Given the description of an element on the screen output the (x, y) to click on. 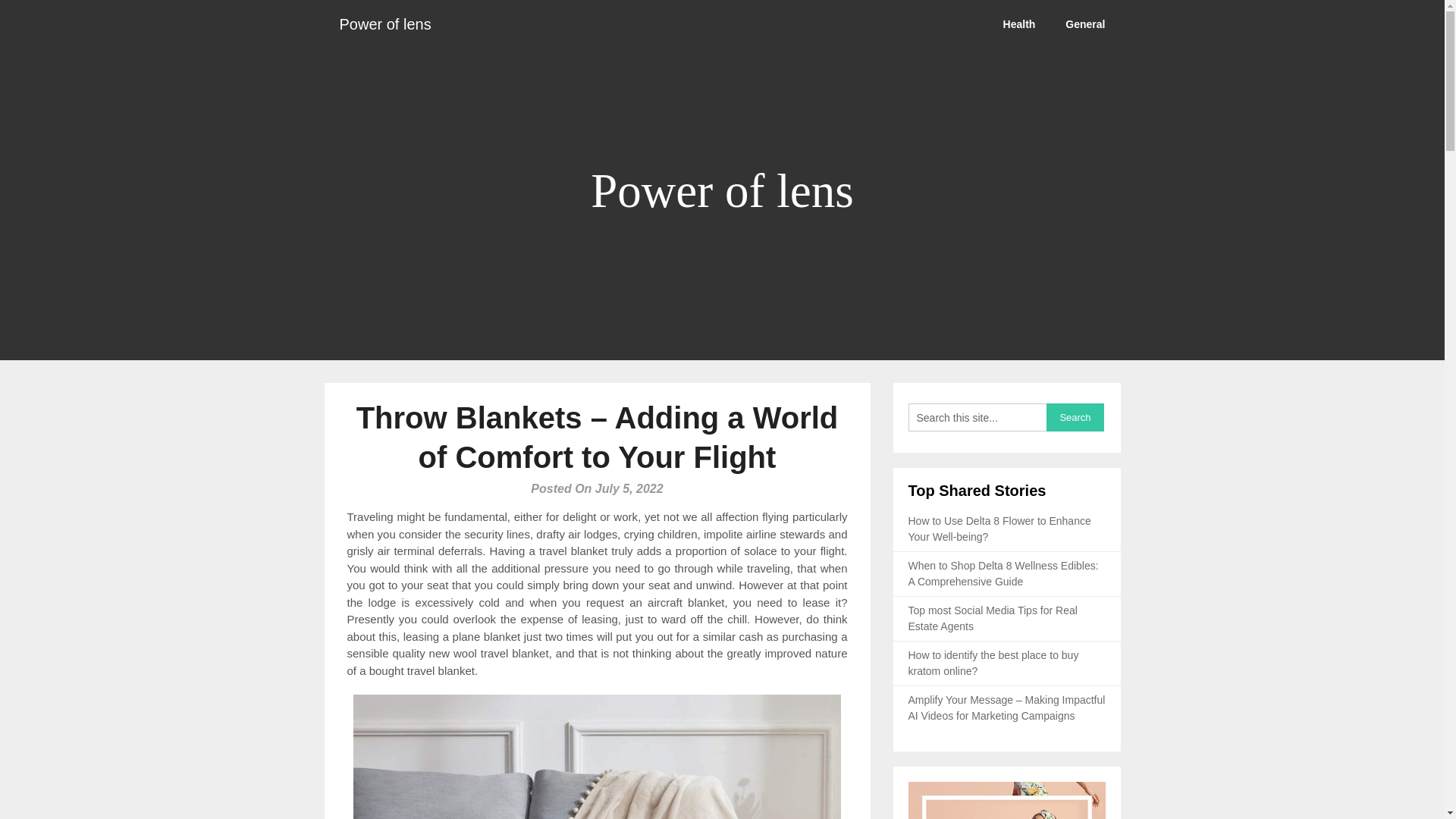
Top most Social Media Tips for Real Estate Agents (992, 618)
Search this site... (977, 417)
When to Shop Delta 8 Wellness Edibles: A Comprehensive Guide (1003, 573)
How to identify the best place to buy kratom online? (993, 663)
Search (1075, 417)
Health (1019, 24)
Search (1075, 417)
General (1084, 24)
How to Use Delta 8 Flower to Enhance Your Well-being? (999, 528)
Power of lens (385, 24)
